Given the description of an element on the screen output the (x, y) to click on. 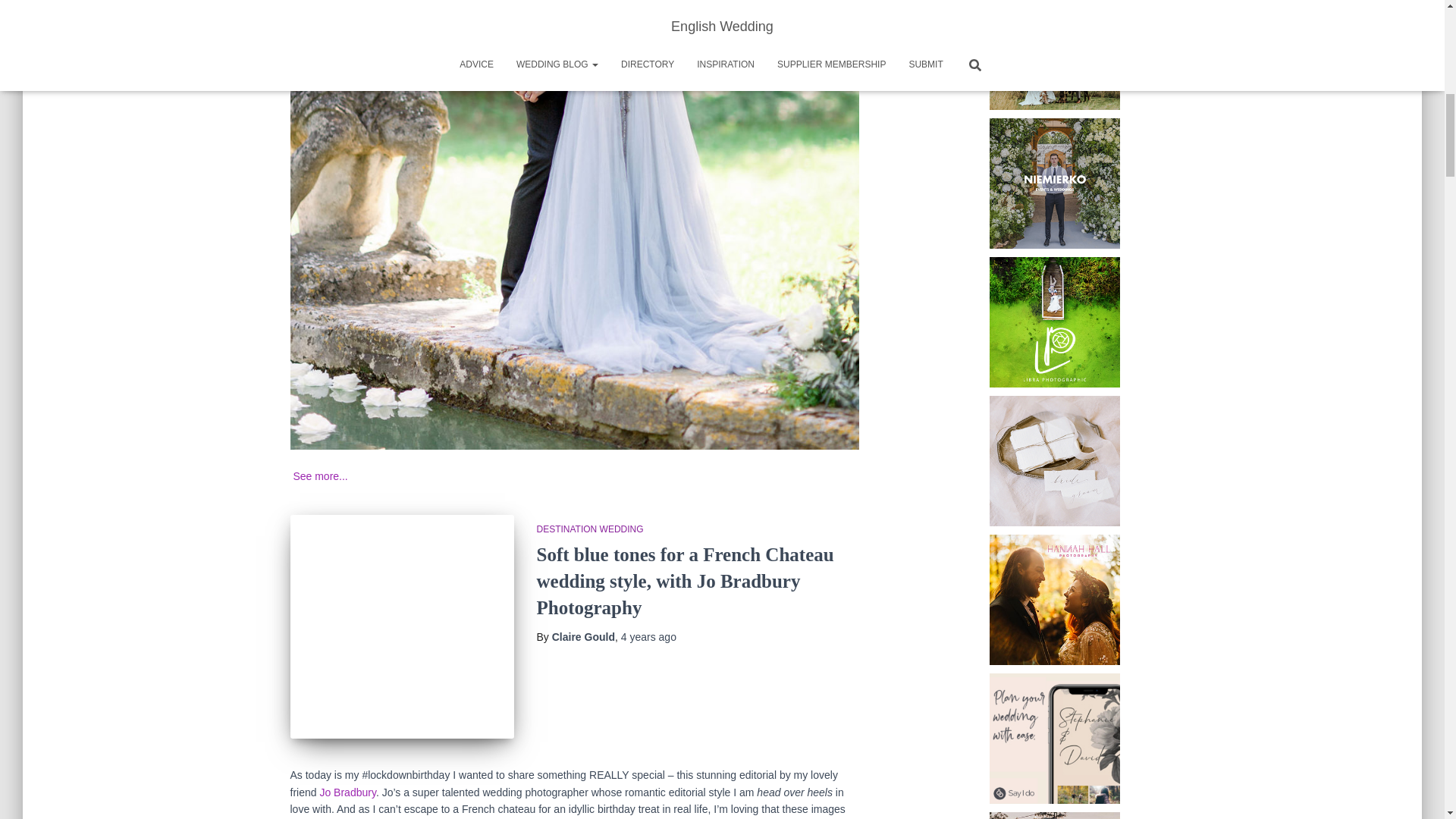
Jo Bradbury (346, 792)
DESTINATION WEDDING (590, 529)
See more... (319, 476)
4 years ago (649, 636)
Claire Gould (582, 636)
